Given the description of an element on the screen output the (x, y) to click on. 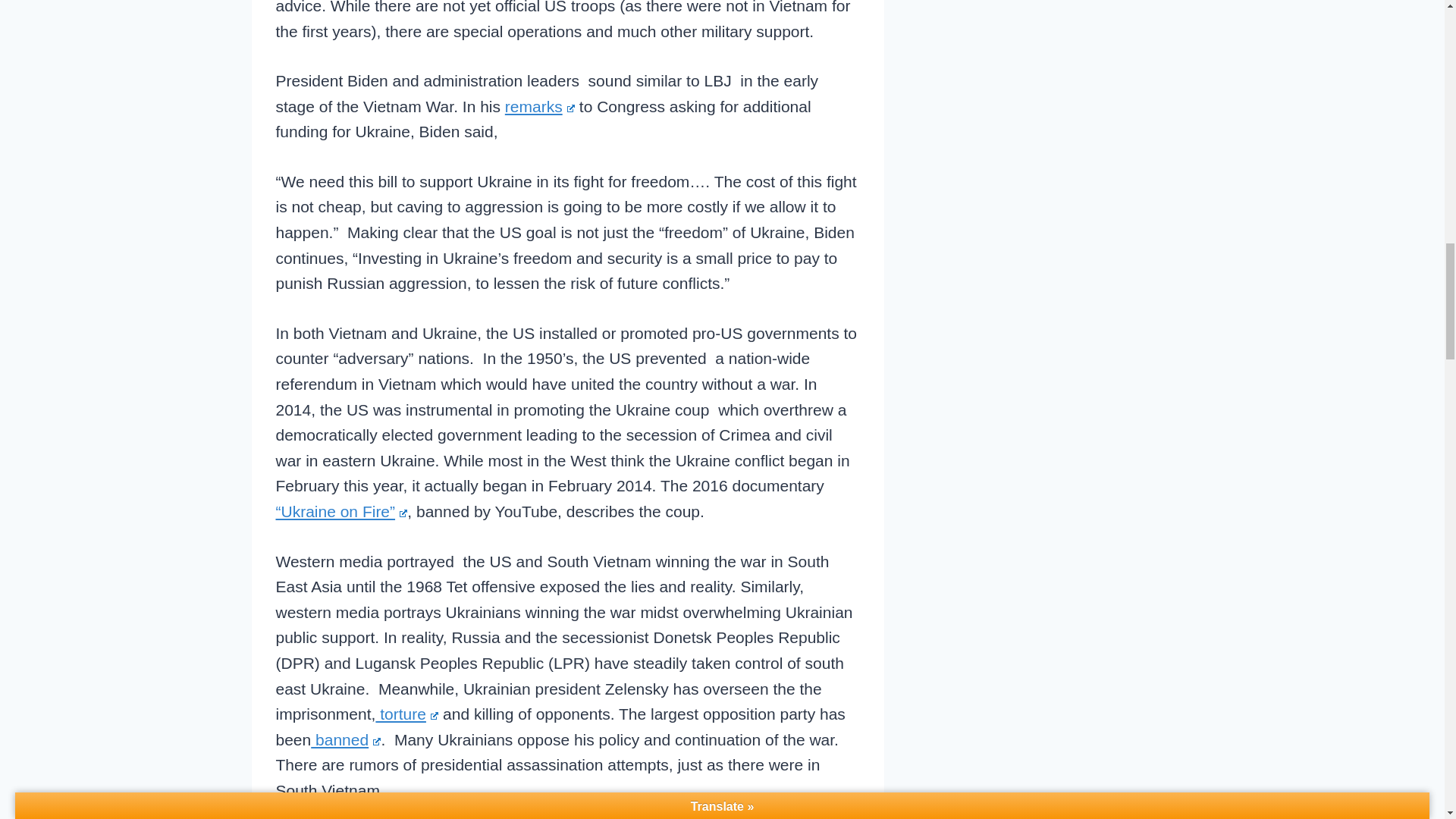
banned (345, 739)
torture (406, 713)
remarks (540, 106)
